Given the description of an element on the screen output the (x, y) to click on. 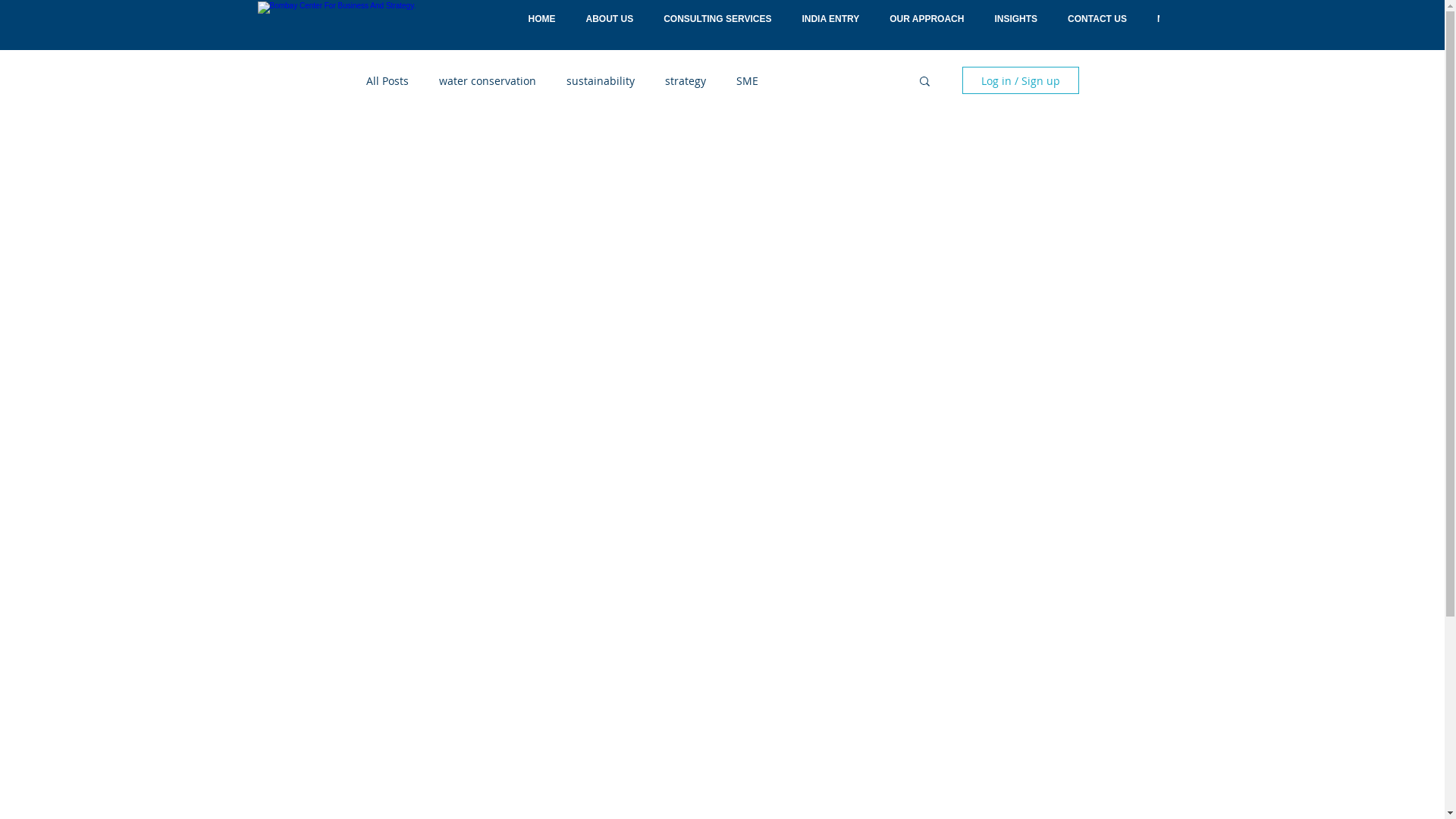
CONTACT US Element type: text (1097, 26)
INSIGHTS Element type: text (1015, 26)
OUR APPROACH Element type: text (926, 26)
ABOUT US Element type: text (609, 26)
strategy Element type: text (684, 79)
HOME Element type: text (541, 26)
All Posts Element type: text (386, 79)
SME Element type: text (746, 79)
water conservation Element type: text (486, 79)
sustainability Element type: text (599, 79)
CONSULTING SERVICES Element type: text (717, 26)
INDIA ENTRY Element type: text (830, 26)
Log in / Sign up Element type: text (1019, 80)
